Given the description of an element on the screen output the (x, y) to click on. 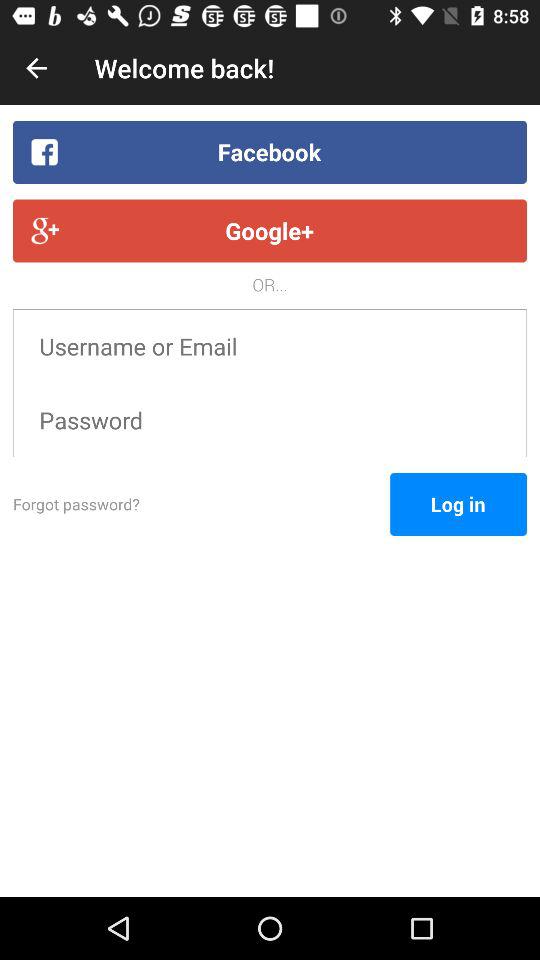
tap item on the right (458, 503)
